Given the description of an element on the screen output the (x, y) to click on. 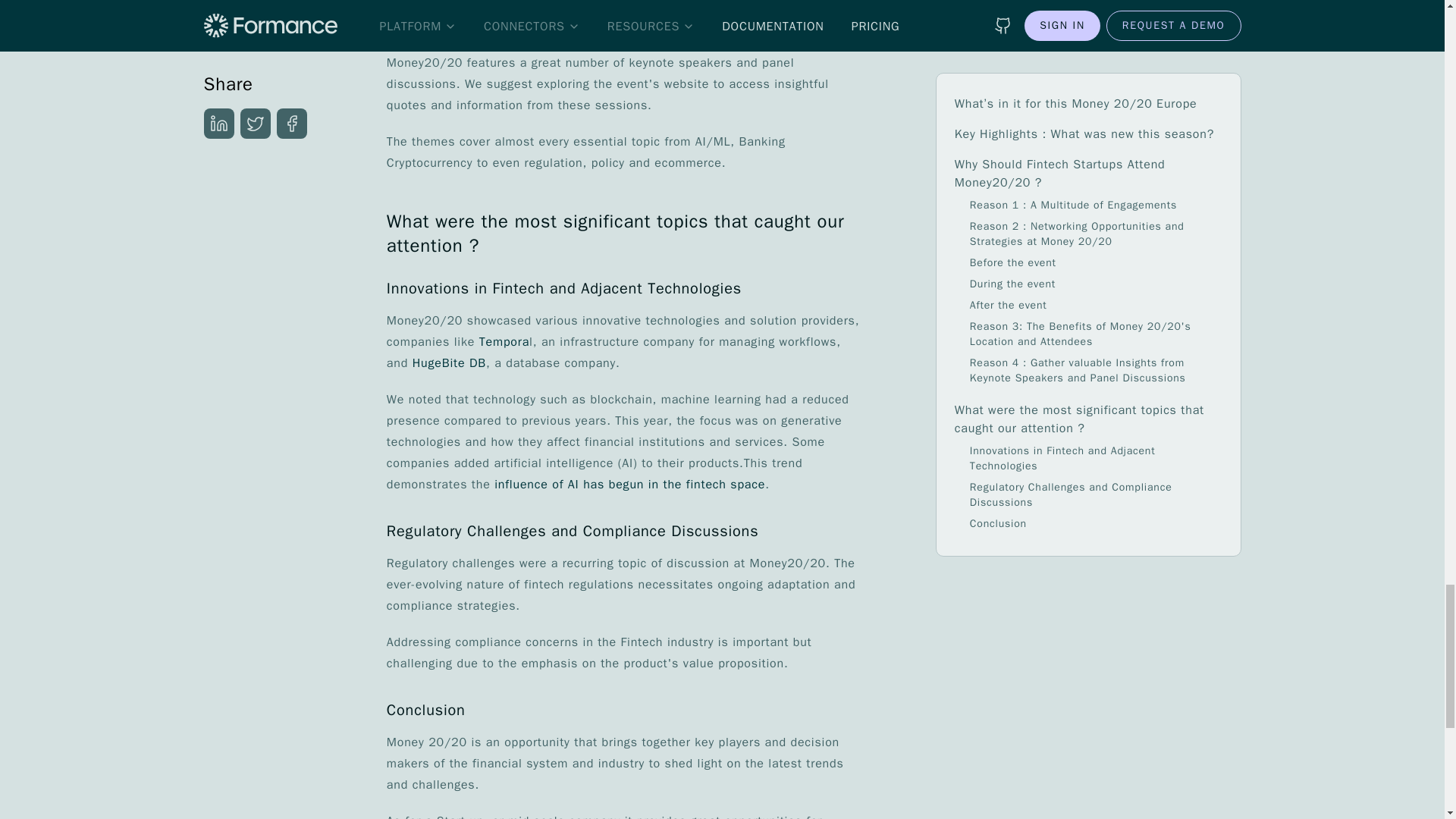
Conclusion (623, 710)
Regulatory Challenges and Compliance Discussions (623, 531)
Innovations in Fintech and Adjacent Technologies (623, 288)
